Given the description of an element on the screen output the (x, y) to click on. 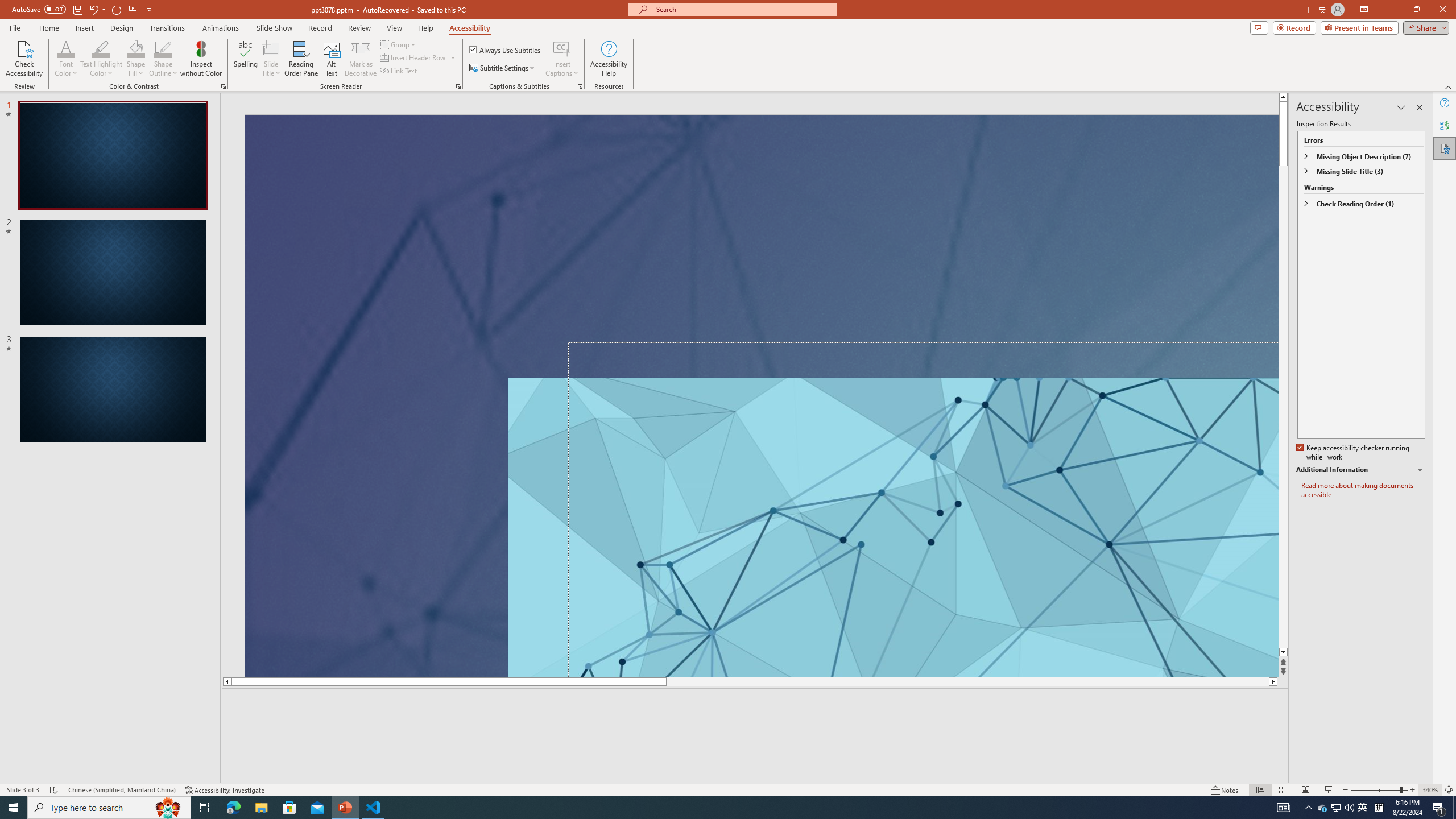
Slide Title (271, 58)
Alt Text (331, 58)
Read more about making documents accessible (1363, 489)
Additional Information (1360, 469)
Accessibility Help (608, 58)
An abstract genetic concept (761, 395)
Reading Order Pane (301, 58)
